Given the description of an element on the screen output the (x, y) to click on. 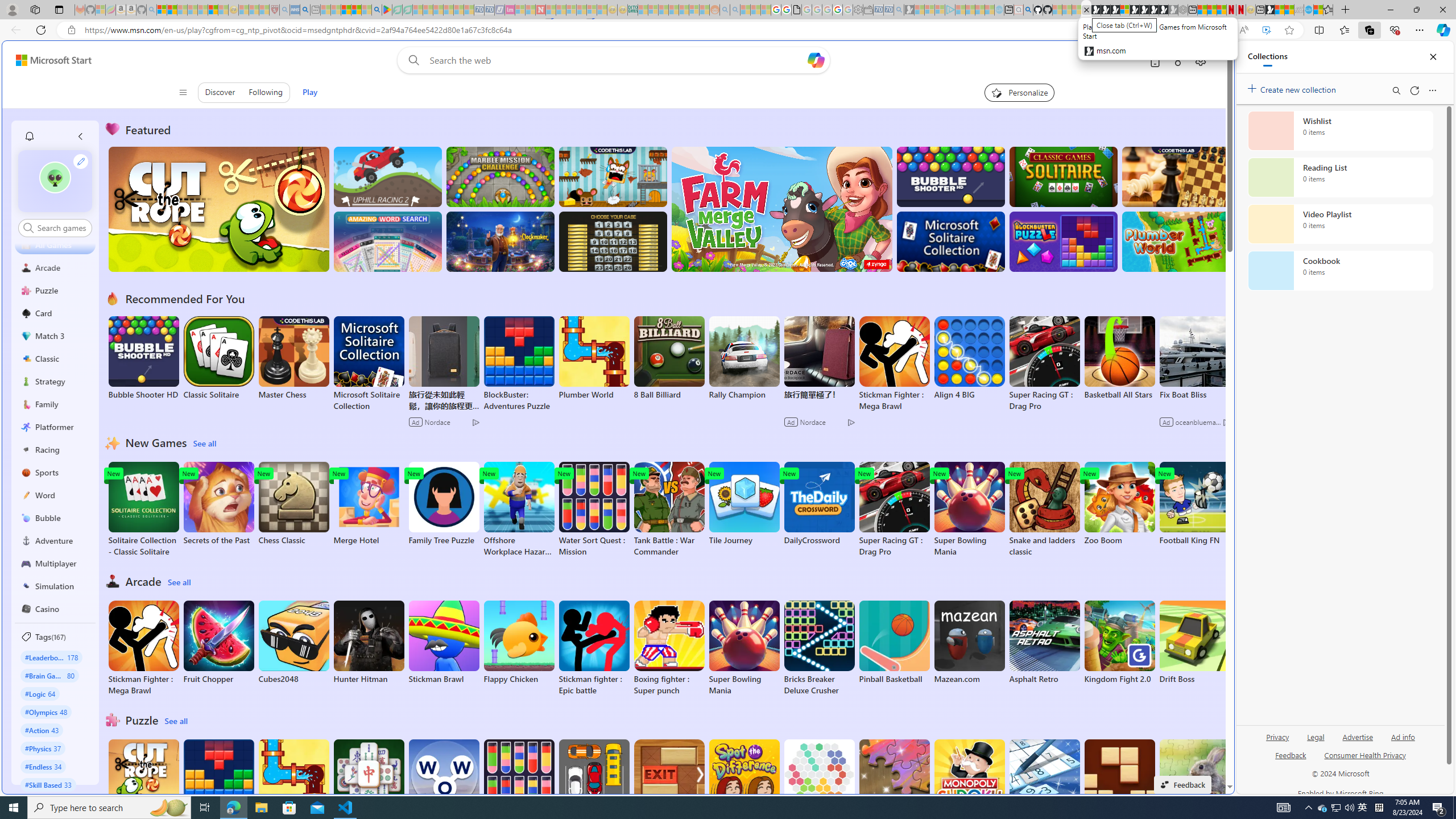
Class: search-icon (28, 227)
Cubes2048 (293, 642)
Wishlist collection, 0 items (1339, 130)
Cookbook collection, 0 items (1339, 270)
Rally Champion (744, 358)
Stickman fighter : Epic battle (593, 648)
